Given the description of an element on the screen output the (x, y) to click on. 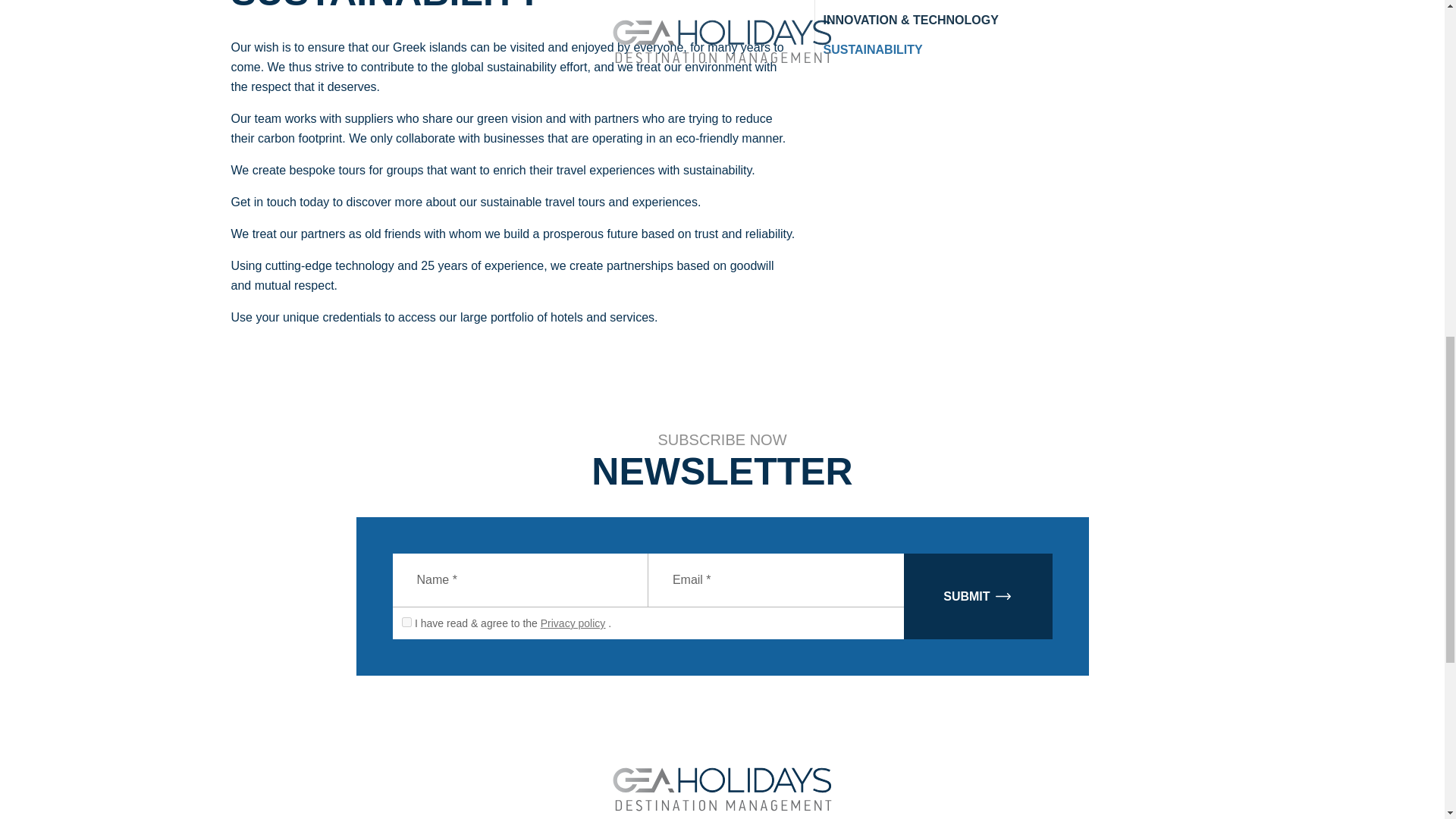
true (406, 622)
